Given the description of an element on the screen output the (x, y) to click on. 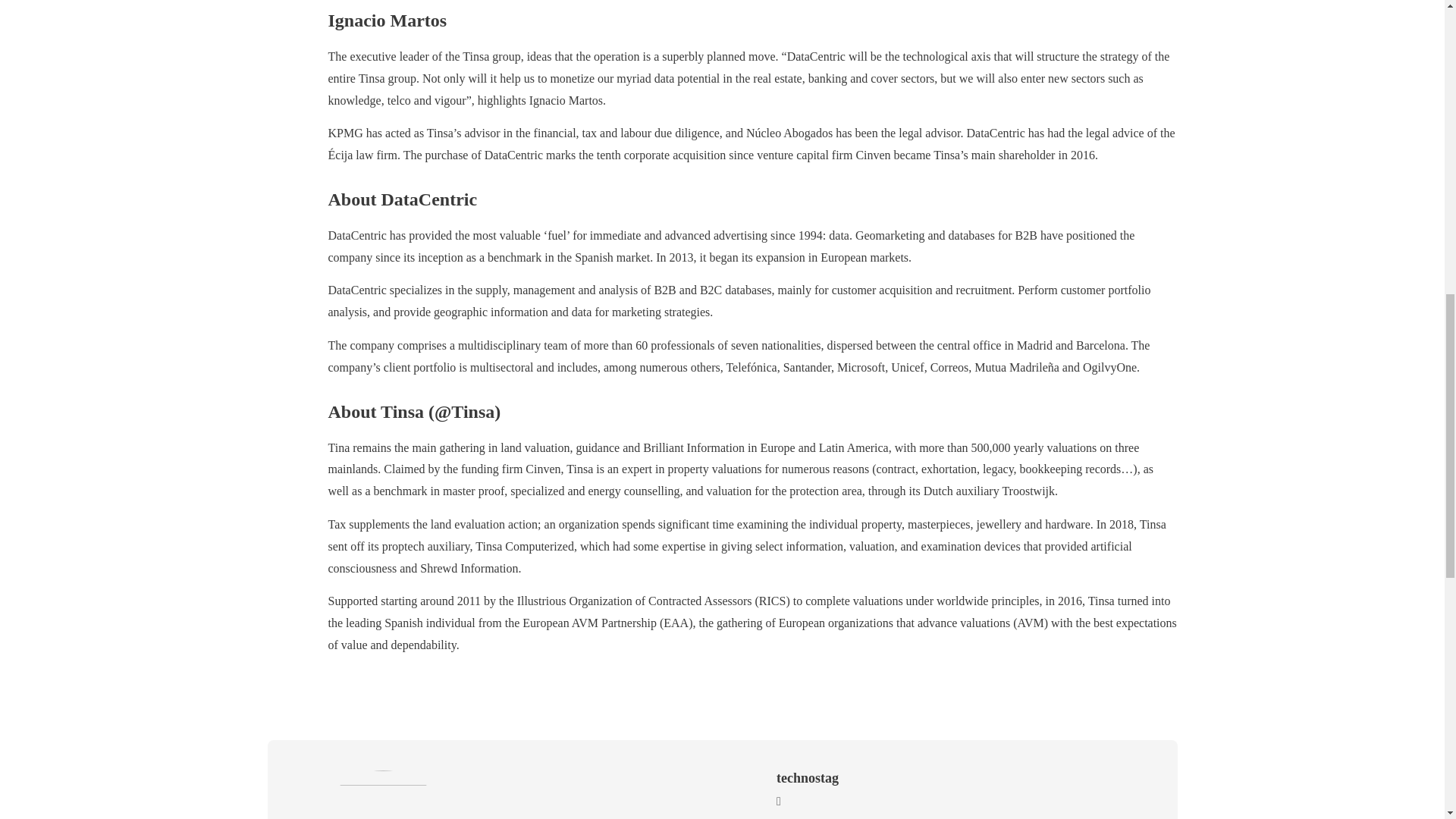
technostag (807, 778)
